Given the description of an element on the screen output the (x, y) to click on. 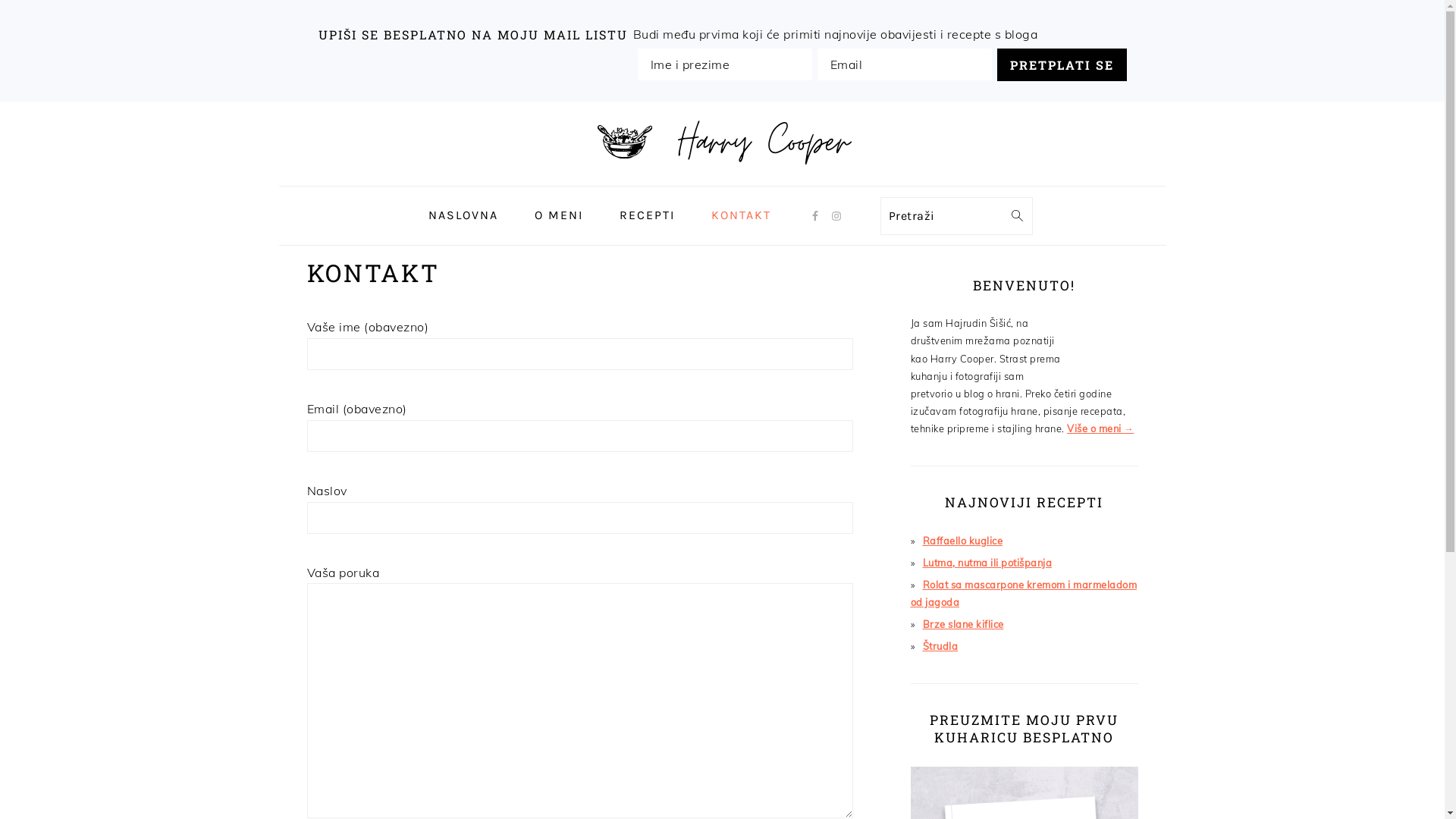
Rolat sa mascarpone kremom i marmeladom od jagoda Element type: text (1023, 593)
O MENI Element type: text (558, 215)
Skip to primary navigation Element type: text (0, 101)
Pretplati se Element type: text (1061, 64)
KONTAKT Element type: text (740, 215)
Recepti za gastro momente - Harry Cooper Element type: hover (722, 133)
RECEPTI Element type: text (646, 215)
Recepti za gastro momente - Harry Cooper Element type: hover (722, 174)
Raffaello kuglice Element type: text (962, 540)
Brze slane kiflice Element type: text (962, 624)
NASLOVNA Element type: text (463, 215)
